Given the description of an element on the screen output the (x, y) to click on. 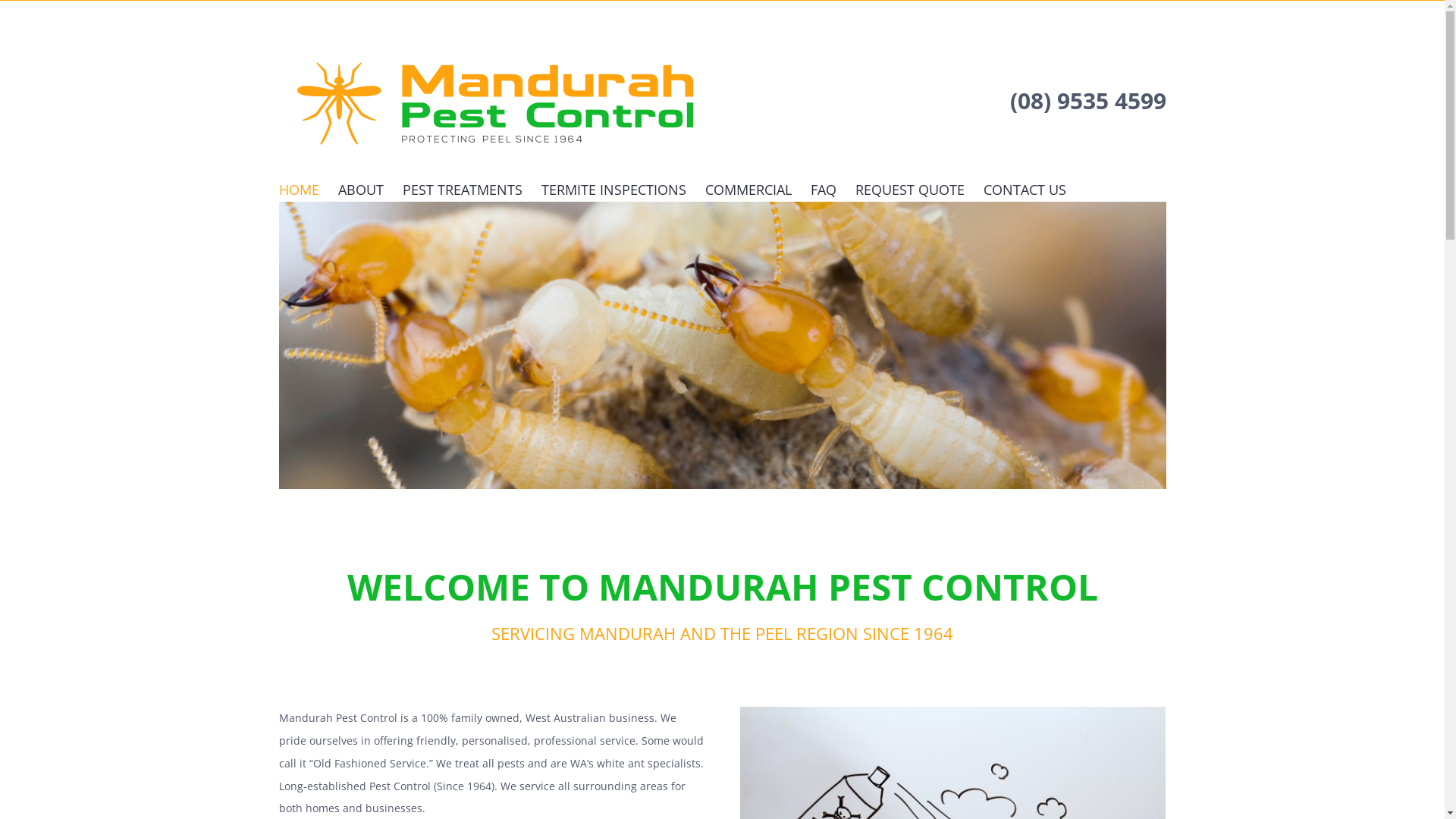
REQUEST QUOTE Element type: text (909, 189)
HOME Element type: text (299, 189)
CONTACT US Element type: text (1023, 189)
FAQ Element type: text (822, 189)
COMMERCIAL Element type: text (748, 189)
TERMITE INSPECTIONS Element type: text (613, 189)
(08) 9535 4599 Element type: text (1088, 100)
PEST TREATMENTS Element type: text (461, 189)
ABOUT Element type: text (360, 189)
